Given the description of an element on the screen output the (x, y) to click on. 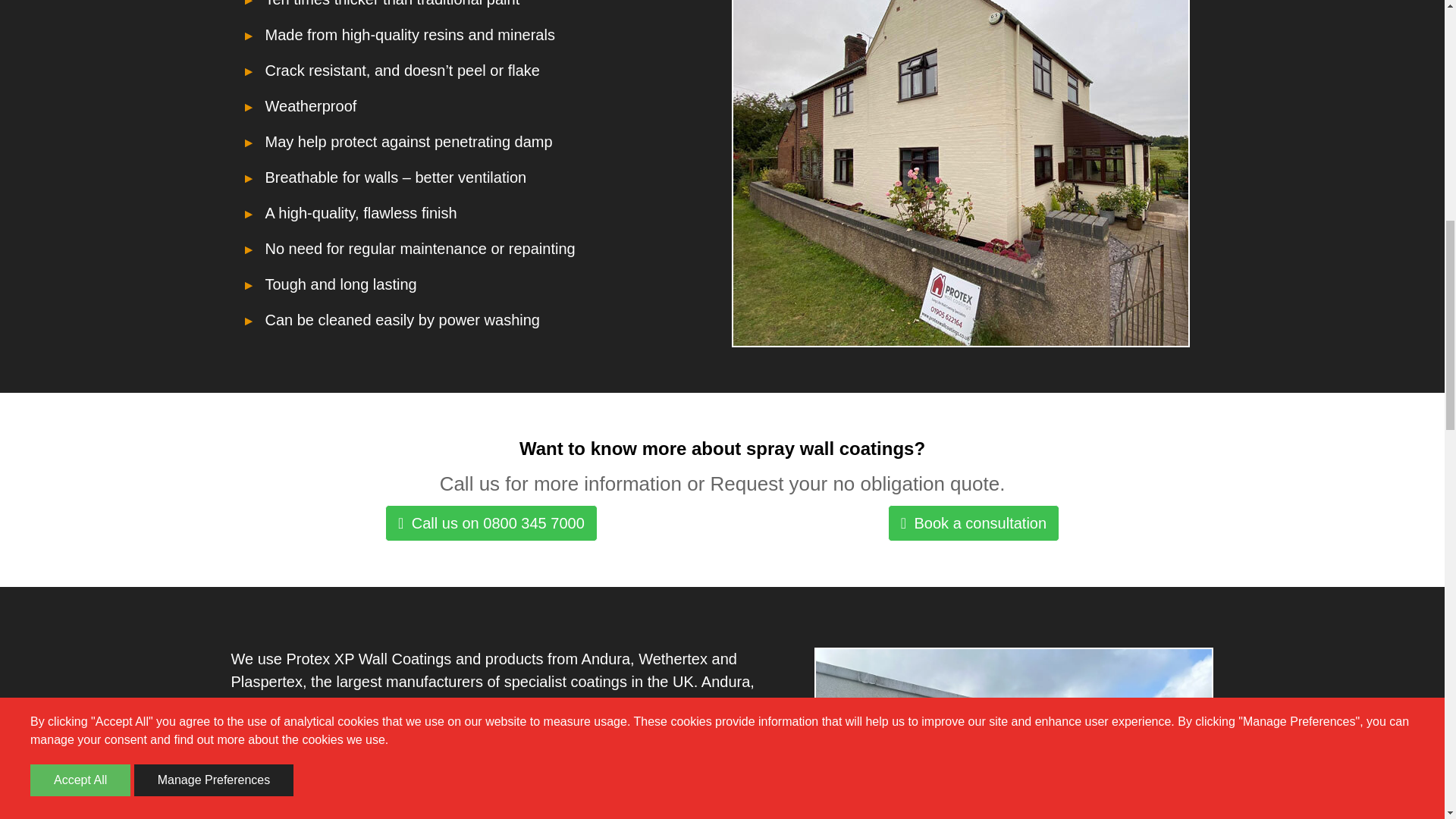
wall coating (681, 784)
  Call us on 0800 345 7000 (490, 523)
  Book a consultation (973, 523)
